Given the description of an element on the screen output the (x, y) to click on. 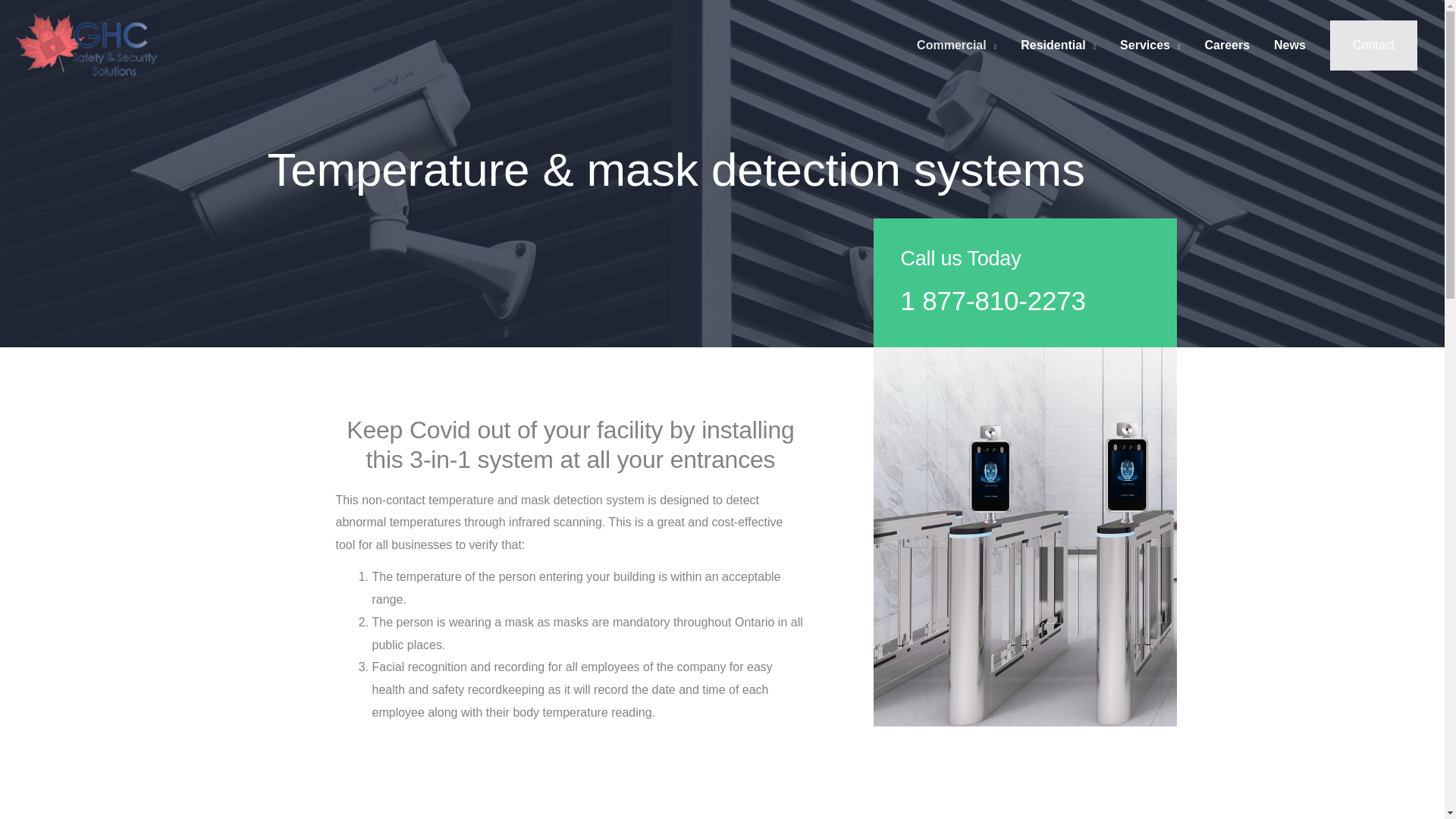
News (1289, 45)
Careers (1227, 45)
Commercial (956, 45)
Contact (1373, 45)
Residential (1058, 45)
Services (1150, 45)
